Given the description of an element on the screen output the (x, y) to click on. 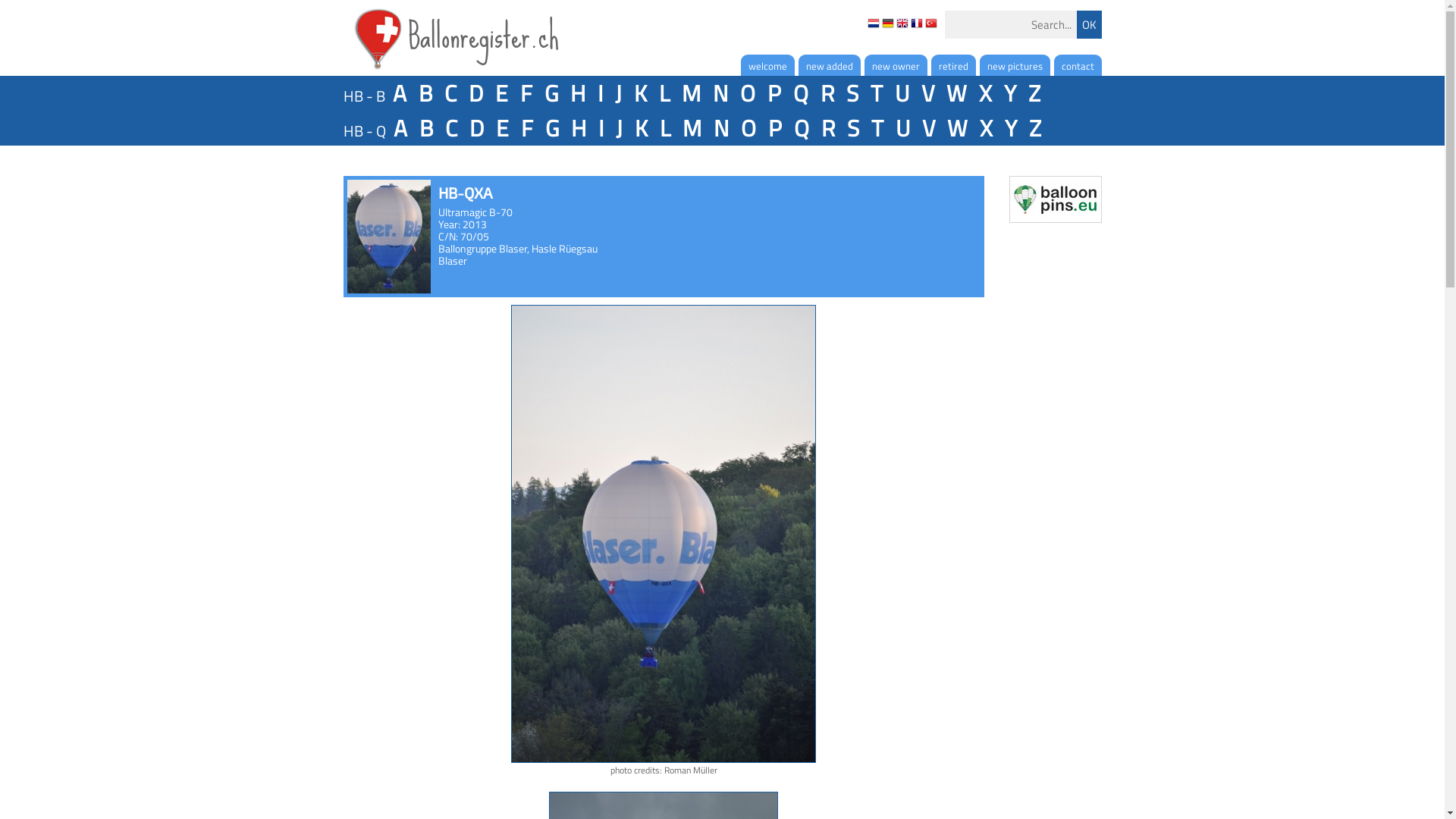
X Element type: text (986, 127)
Y Element type: text (1009, 127)
T Element type: text (876, 92)
B Element type: text (425, 127)
P Element type: text (773, 92)
D Element type: text (475, 92)
G Element type: text (550, 127)
Q Element type: text (800, 127)
N Element type: text (720, 127)
J Element type: text (617, 92)
R Element type: text (826, 127)
E Element type: text (502, 127)
retired Element type: text (953, 64)
welcome Element type: text (766, 64)
U Element type: text (901, 127)
I Element type: text (600, 127)
M Element type: text (690, 92)
O Element type: text (747, 92)
V Element type: text (927, 92)
K Element type: text (640, 127)
A Element type: text (399, 127)
new owner Element type: text (895, 64)
X Element type: text (984, 92)
P Element type: text (773, 127)
A Element type: text (399, 92)
Y Element type: text (1009, 92)
H Element type: text (577, 92)
new added Element type: text (828, 64)
W Element type: text (956, 92)
I Element type: text (600, 92)
B Element type: text (425, 92)
F Element type: text (525, 92)
L Element type: text (663, 92)
C Element type: text (450, 92)
D Element type: text (475, 127)
Z Element type: text (1033, 92)
O Element type: text (747, 127)
G Element type: text (550, 92)
U Element type: text (901, 92)
contact Element type: text (1077, 64)
S Element type: text (851, 127)
L Element type: text (664, 127)
T Element type: text (876, 127)
C Element type: text (450, 127)
N Element type: text (720, 92)
W Element type: text (956, 127)
V Element type: text (928, 127)
E Element type: text (500, 92)
M Element type: text (691, 127)
F Element type: text (525, 127)
Q Element type: text (800, 92)
R Element type: text (826, 92)
J Element type: text (619, 127)
S Element type: text (851, 92)
H Element type: text (577, 127)
new pictures Element type: text (1014, 64)
Z Element type: text (1033, 127)
K Element type: text (640, 92)
